Given the description of an element on the screen output the (x, y) to click on. 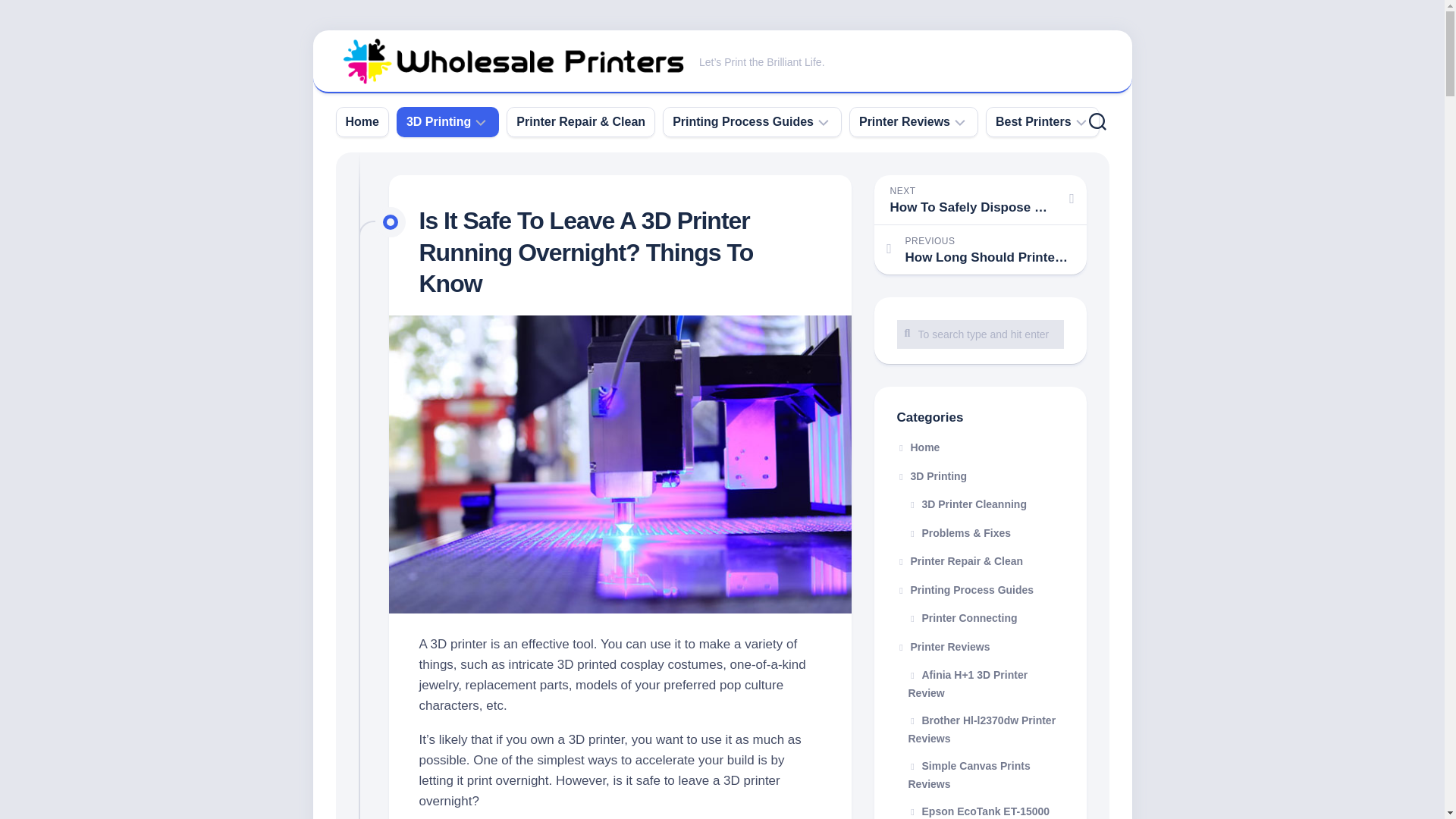
Home (362, 121)
Printer Reviews (904, 121)
To search type and hit enter (979, 334)
Best Printers (1033, 121)
3D Printing (438, 121)
To search type and hit enter (979, 334)
Printing Process Guides (742, 121)
